Given the description of an element on the screen output the (x, y) to click on. 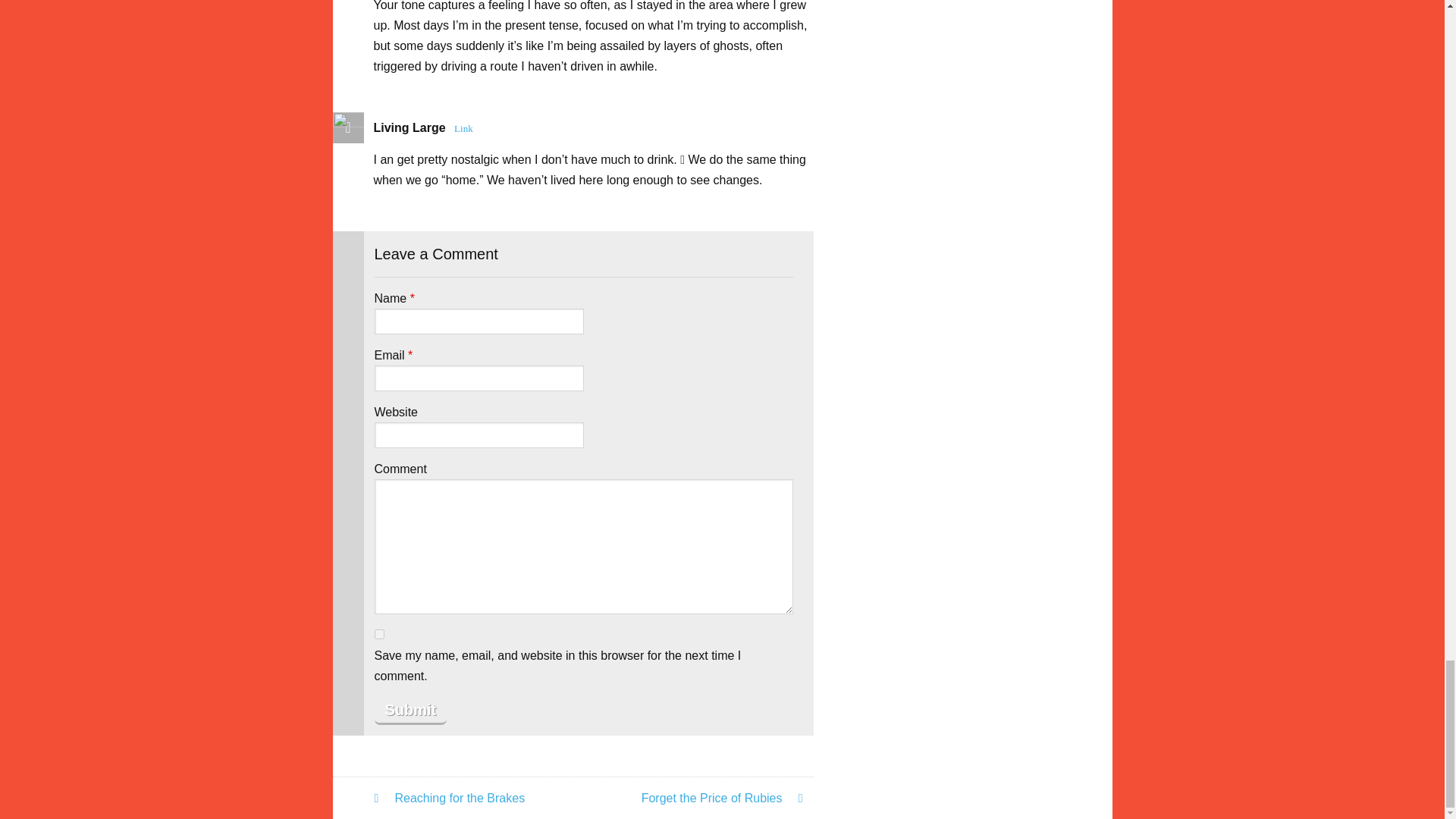
Submit (410, 710)
Living Large (408, 127)
Submit (410, 710)
Required (412, 297)
Required (409, 354)
Link (463, 127)
yes (379, 634)
permalink to this comment (463, 127)
